Given the description of an element on the screen output the (x, y) to click on. 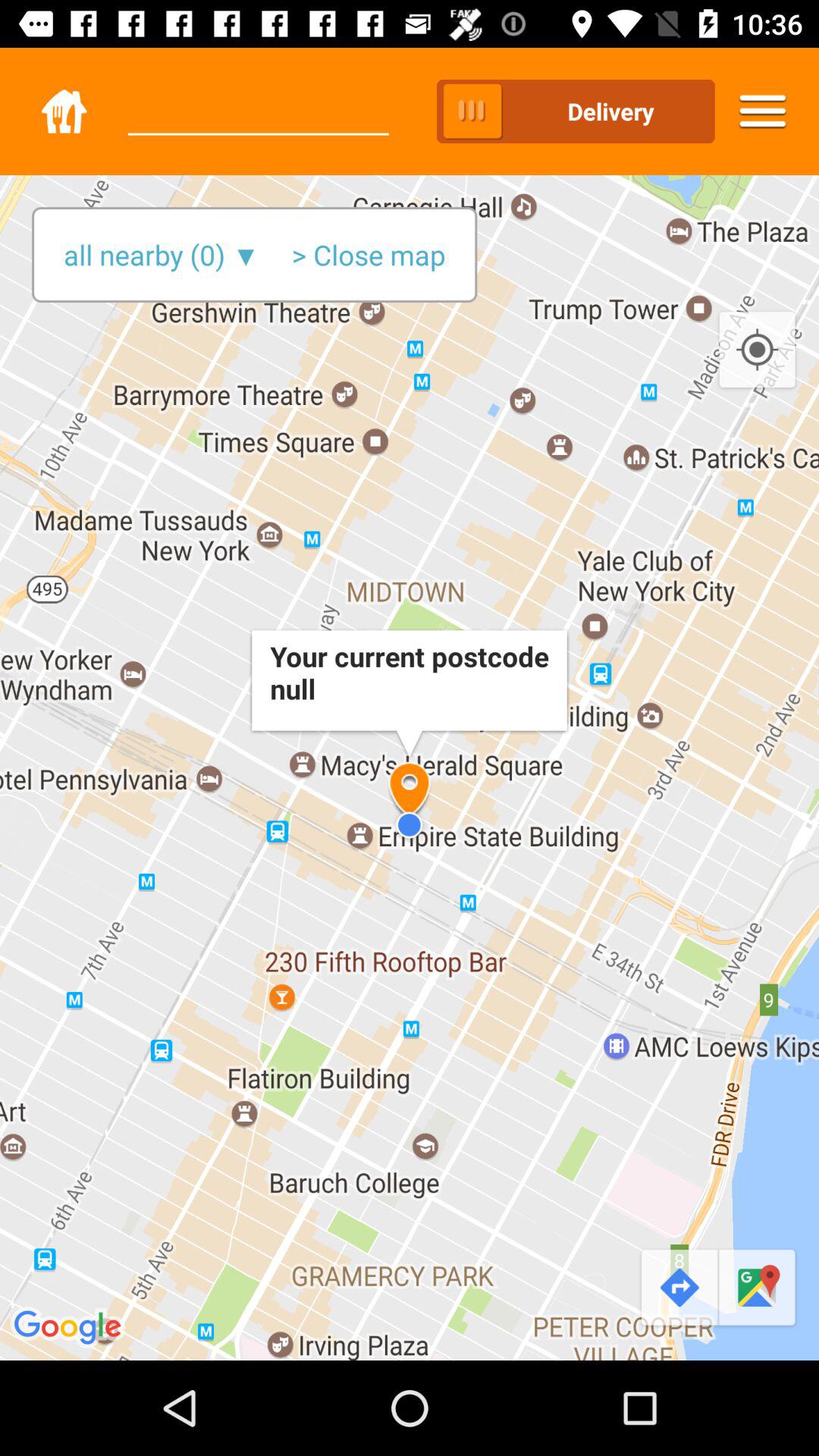
press icon to the right of delivery item (762, 111)
